Given the description of an element on the screen output the (x, y) to click on. 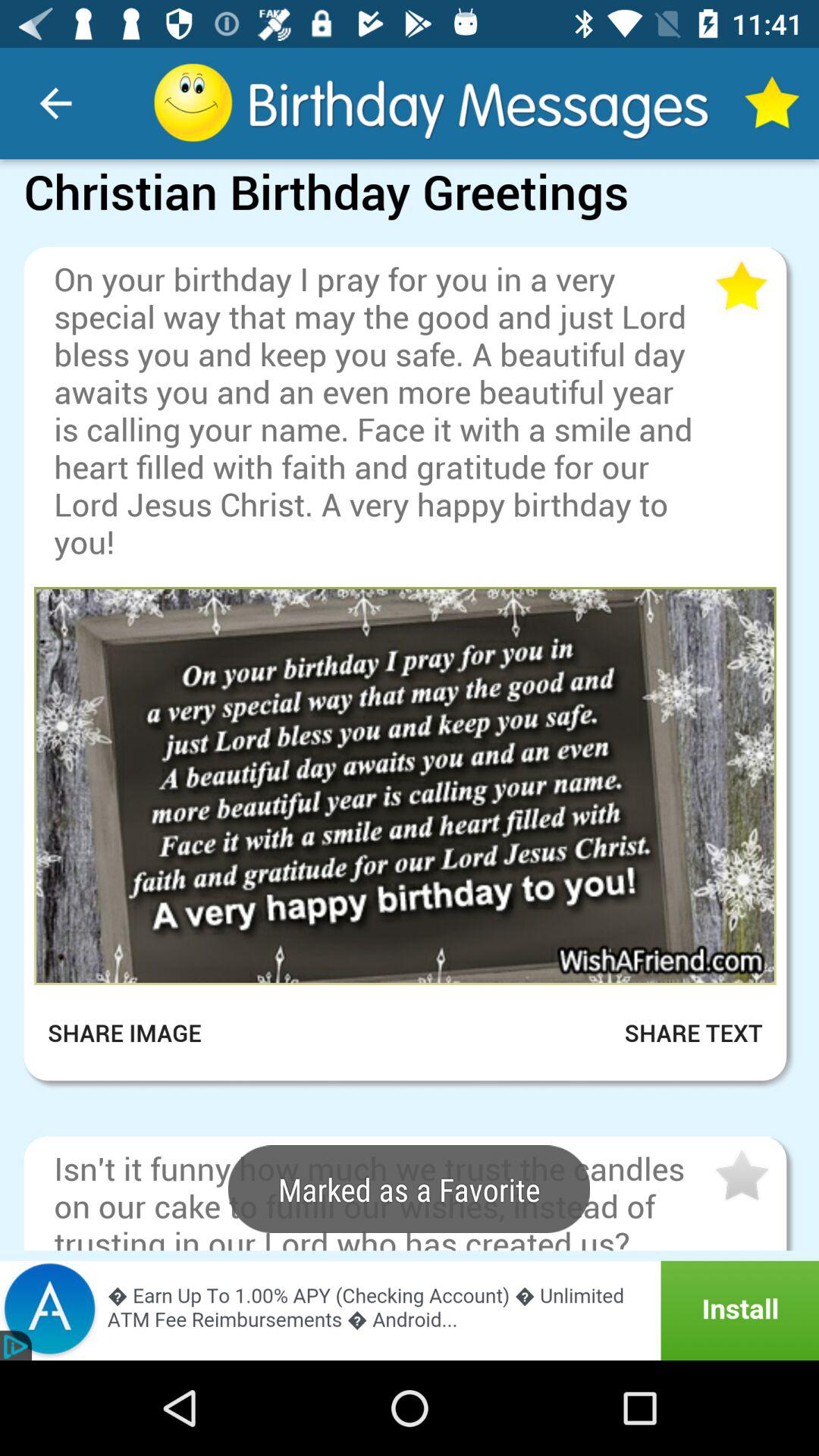
select item next to share image item (674, 1032)
